Given the description of an element on the screen output the (x, y) to click on. 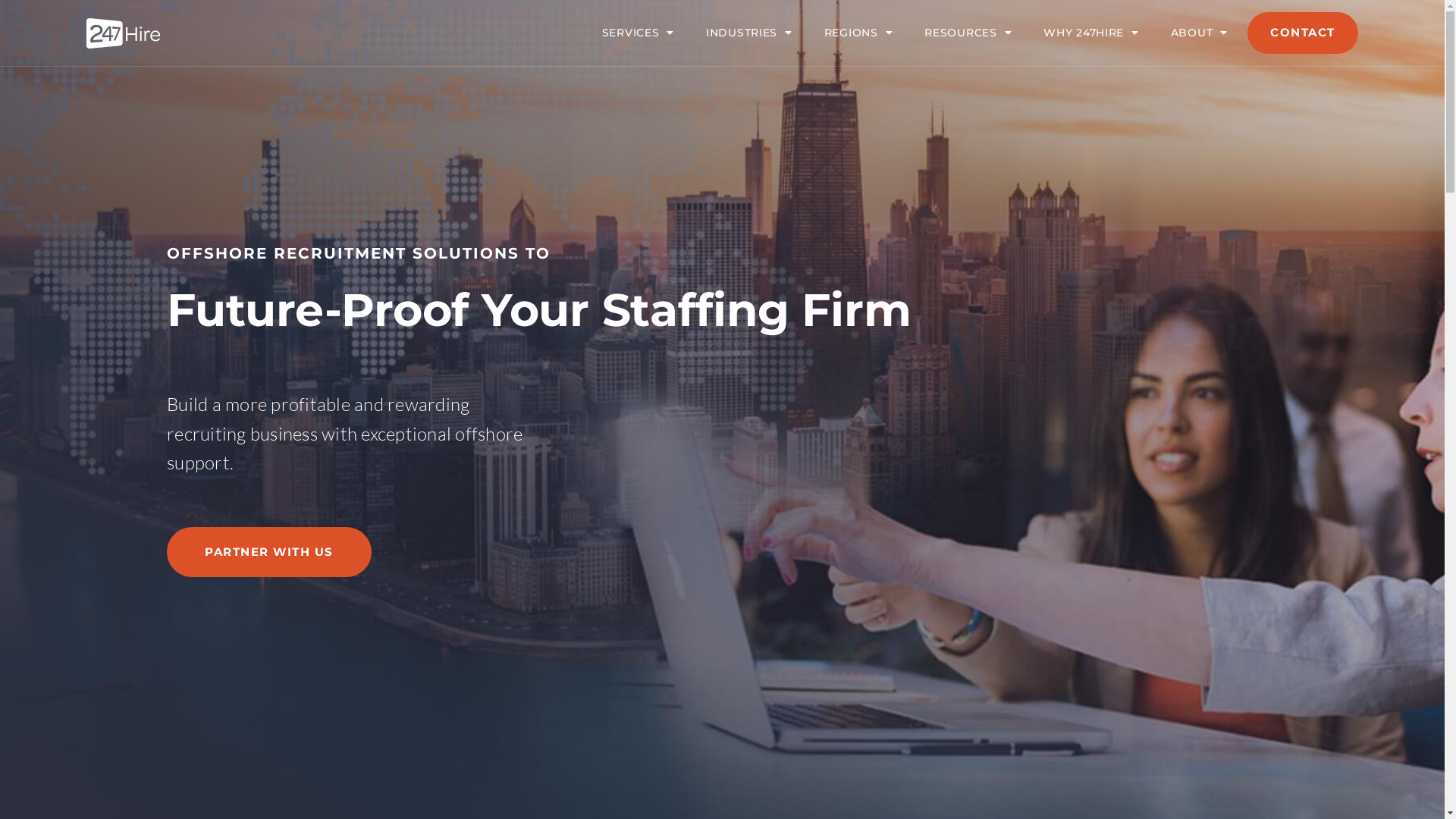
RESOURCES Element type: text (967, 32)
WHY 247HIRE Element type: text (1090, 32)
ABOUT Element type: text (1199, 32)
SERVICES Element type: text (637, 32)
REGIONS Element type: text (858, 32)
PARTNER WITH US Element type: text (268, 552)
CONTACT Element type: text (1302, 32)
INDUSTRIES Element type: text (749, 32)
